Given the description of an element on the screen output the (x, y) to click on. 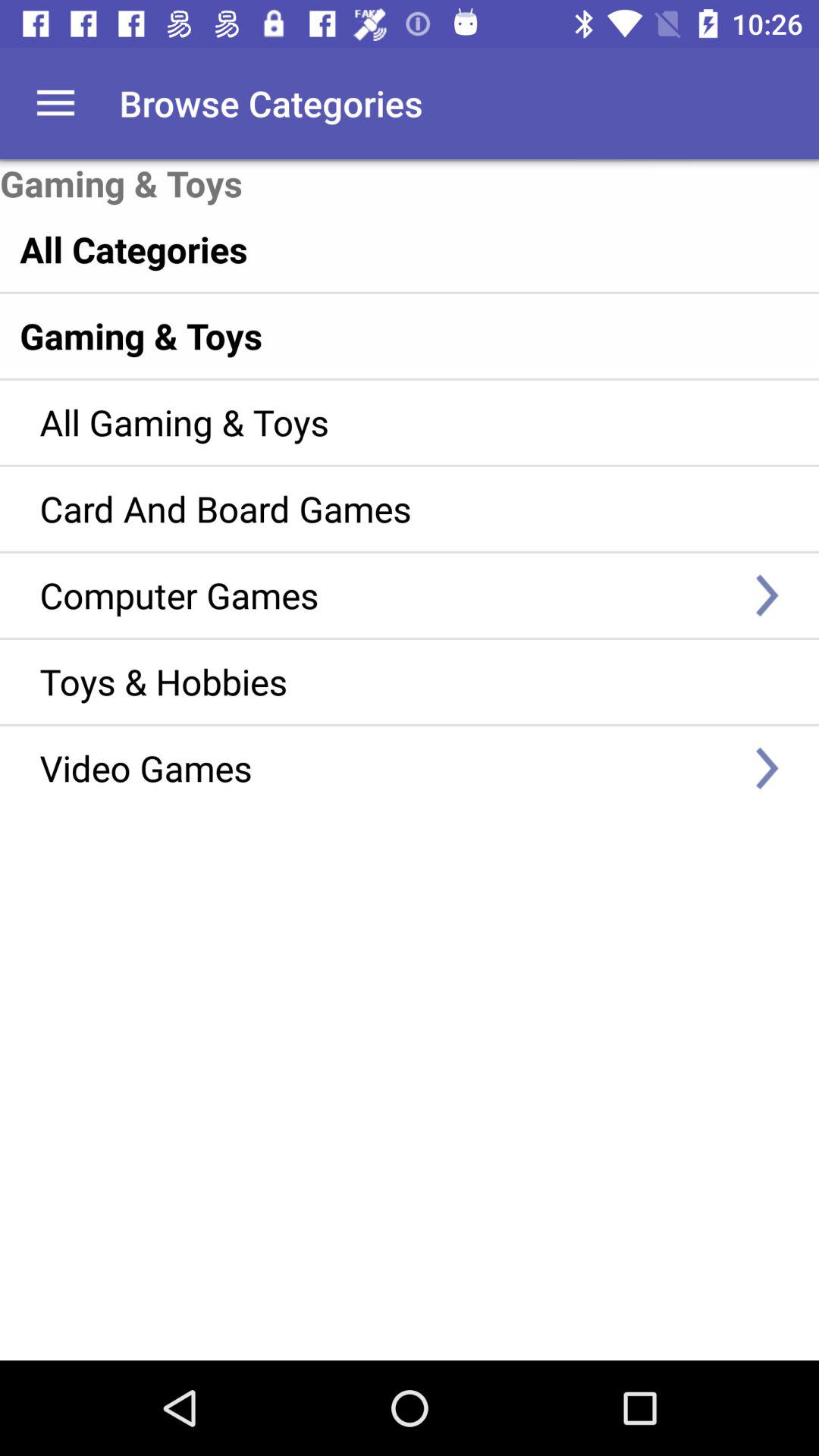
turn on the item above the gaming & toys (55, 103)
